Given the description of an element on the screen output the (x, y) to click on. 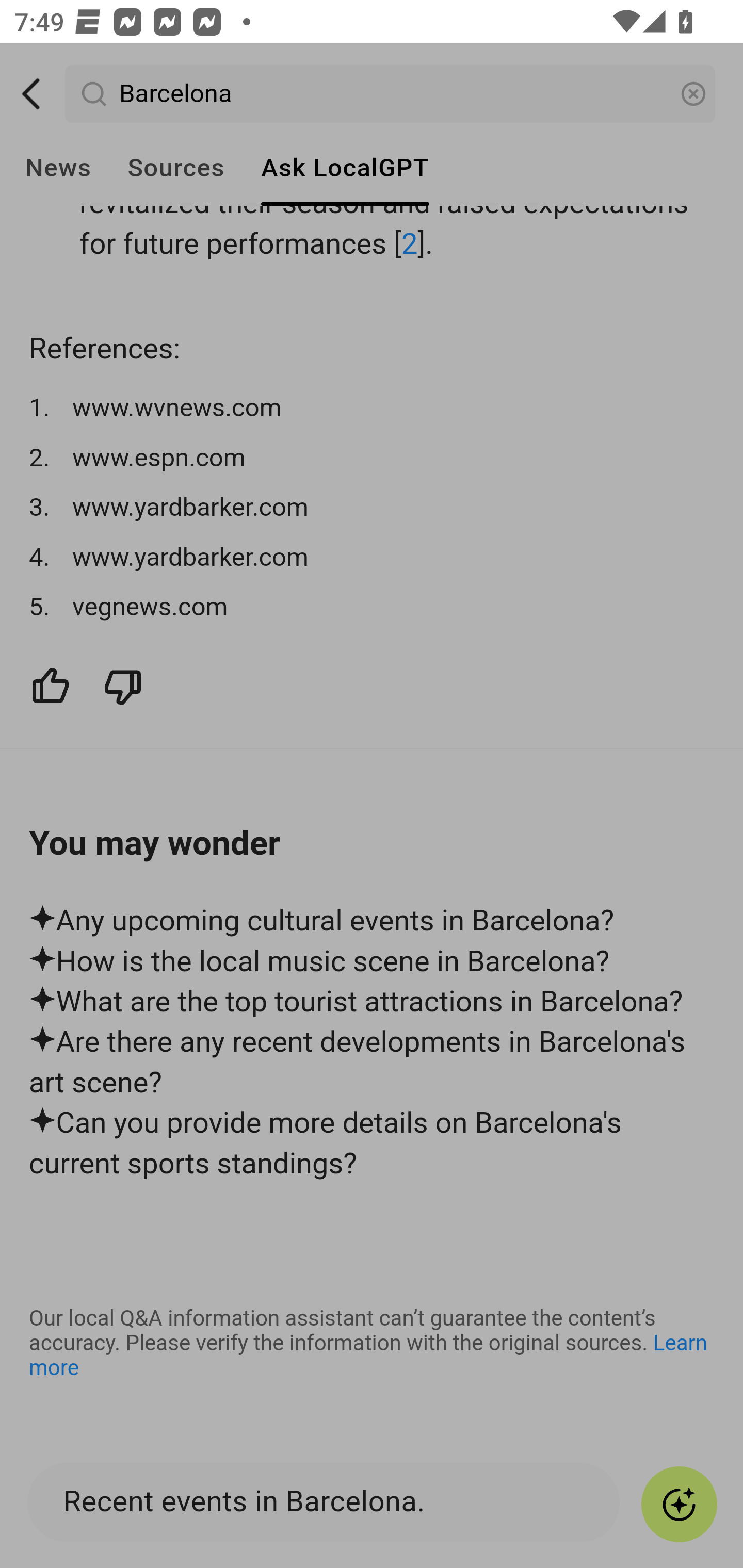
Barcelona (390, 95)
News (58, 168)
Sources (175, 168)
Ask LocalGPT (344, 168)
2 (410, 245)
1. www.wvnews.com 1. www.wvnews.com (372, 409)
2. www.espn.com 2. www.espn.com (372, 459)
3. www.yardbarker.com 3. www.yardbarker.com (372, 508)
4. www.yardbarker.com 4. www.yardbarker.com (372, 558)
5. vegnews.com 5. vegnews.com (372, 608)
Any upcoming cultural events in Barcelona? (372, 921)
How is the local music scene in Barcelona? (372, 962)
What are the top tourist attractions in Barcelona? (372, 1003)
Recent events in Barcelona. (333, 1501)
